Given the description of an element on the screen output the (x, y) to click on. 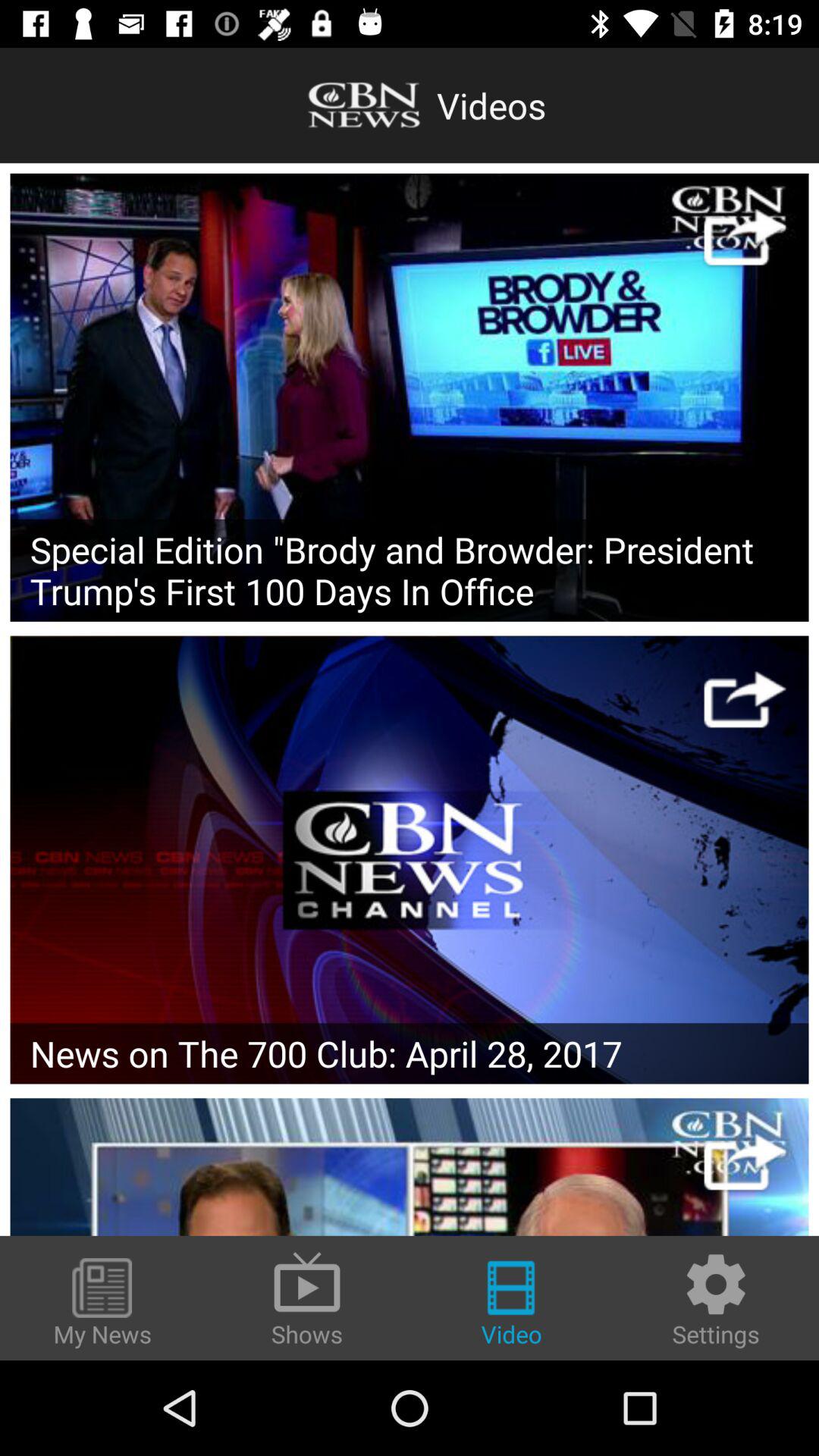
open news video (409, 859)
